Given the description of an element on the screen output the (x, y) to click on. 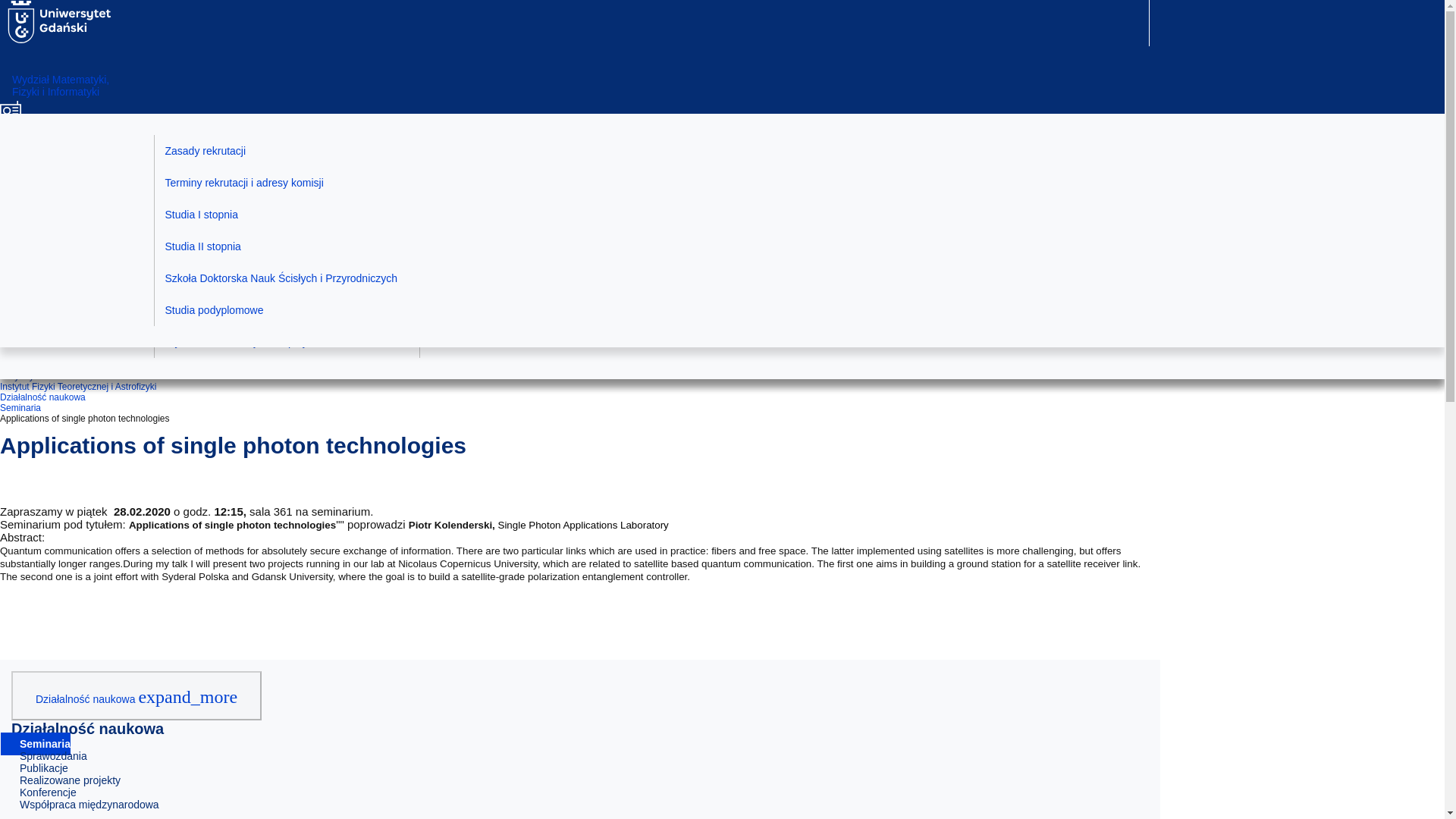
Komunikaty Dziekanatu (286, 151)
Informacje Dziekanatu (286, 341)
Legitymacja studencka (286, 309)
Praktyki (552, 151)
Poczta uniwersytecka (47, 254)
en (47, 324)
radio (47, 219)
Biuro Karier (552, 183)
Egzaminy dyplomowe (552, 214)
English Version - Angielska wersja (47, 324)
